Given the description of an element on the screen output the (x, y) to click on. 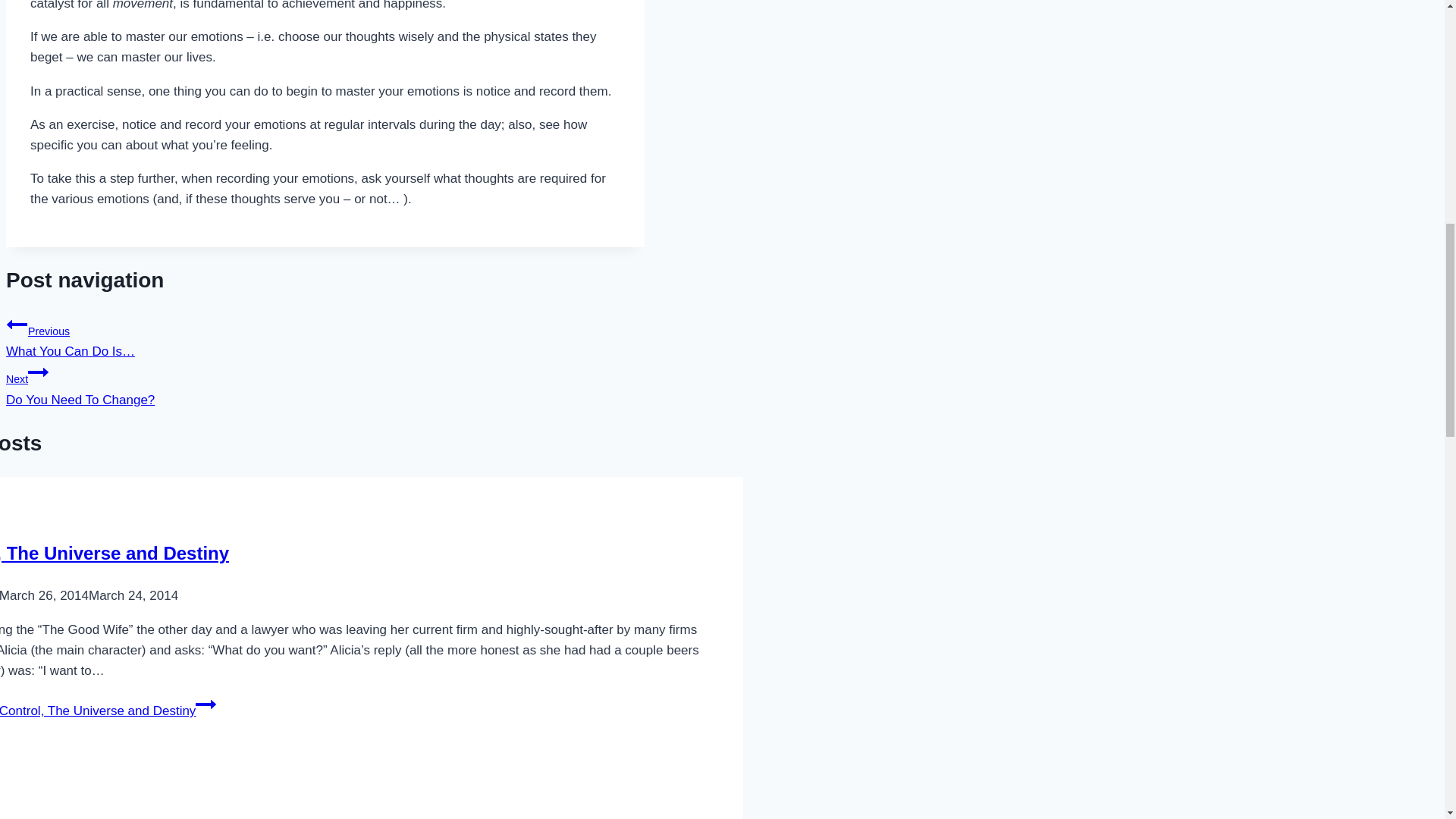
Continue (205, 703)
Previous (16, 323)
Control, The Universe and Destiny (114, 552)
Continue (37, 372)
Read More Control, The Universe and DestinyContinue (325, 383)
